Given the description of an element on the screen output the (x, y) to click on. 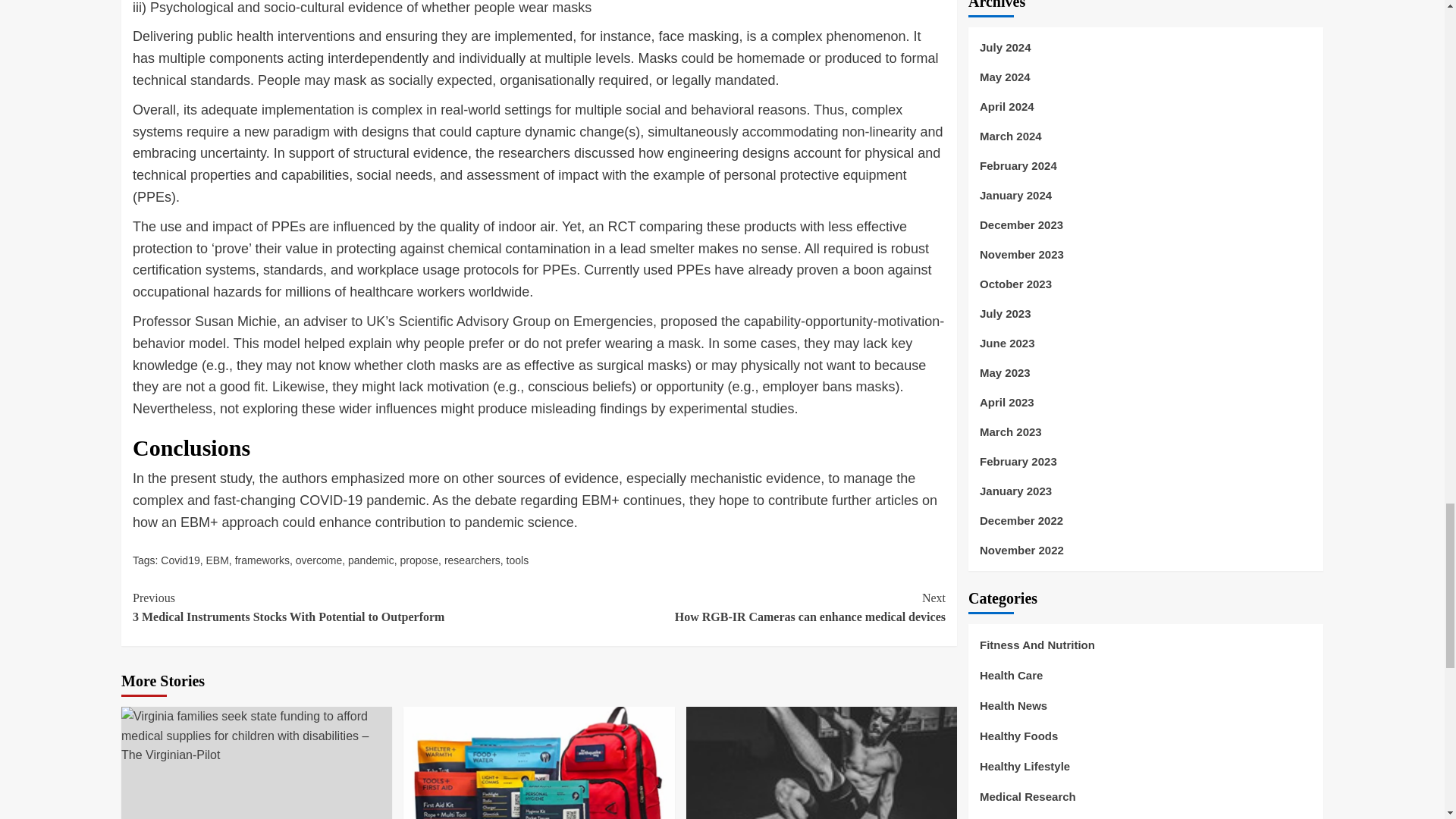
tools (517, 560)
overcome (318, 560)
Best survival kits and emergency supplies to stay prepared (741, 607)
pandemic (538, 762)
researchers (370, 560)
frameworks (472, 560)
propose (261, 560)
Covid19 (419, 560)
EBM (179, 560)
